Given the description of an element on the screen output the (x, y) to click on. 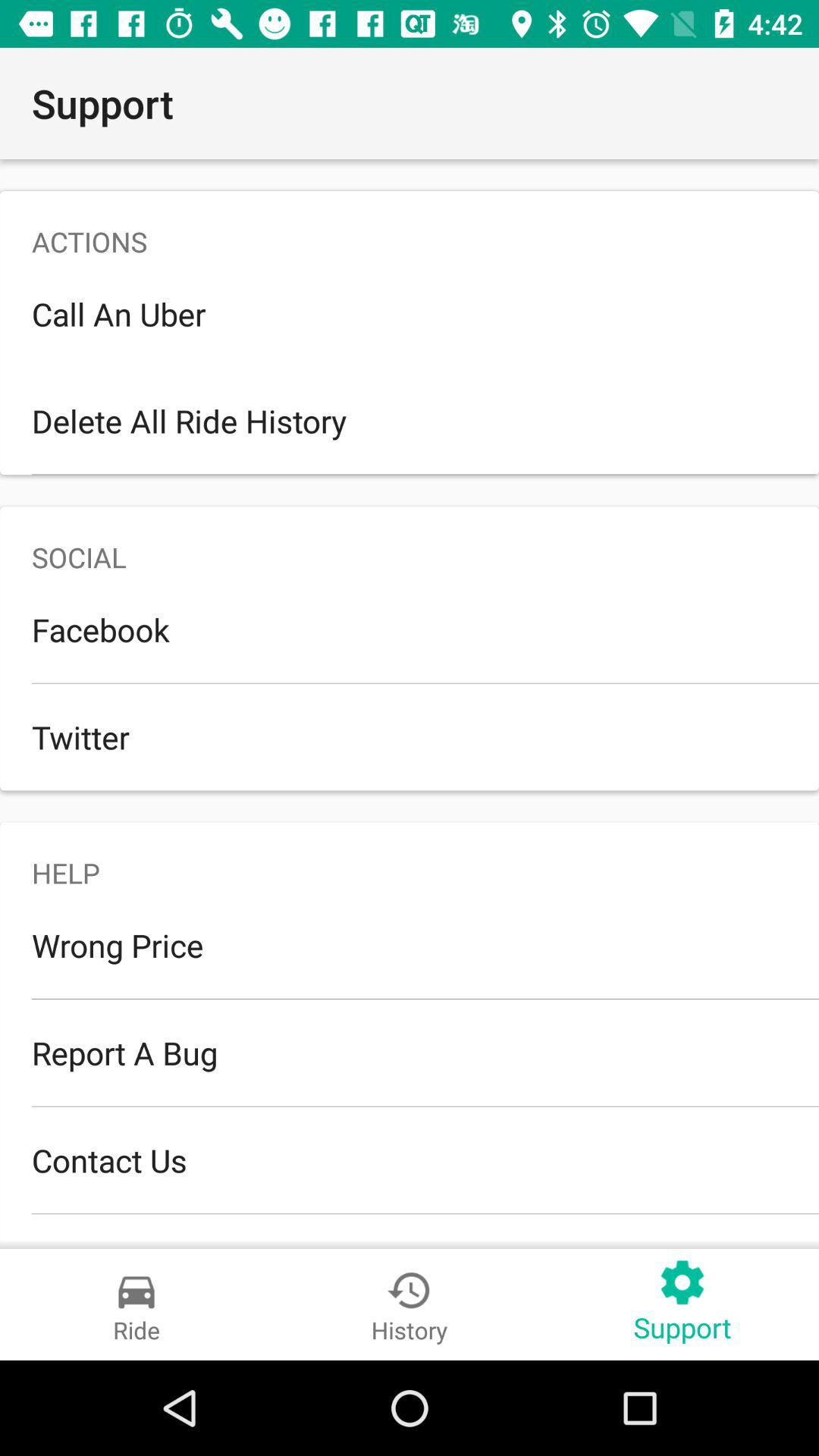
select wrong price icon (409, 944)
